Given the description of an element on the screen output the (x, y) to click on. 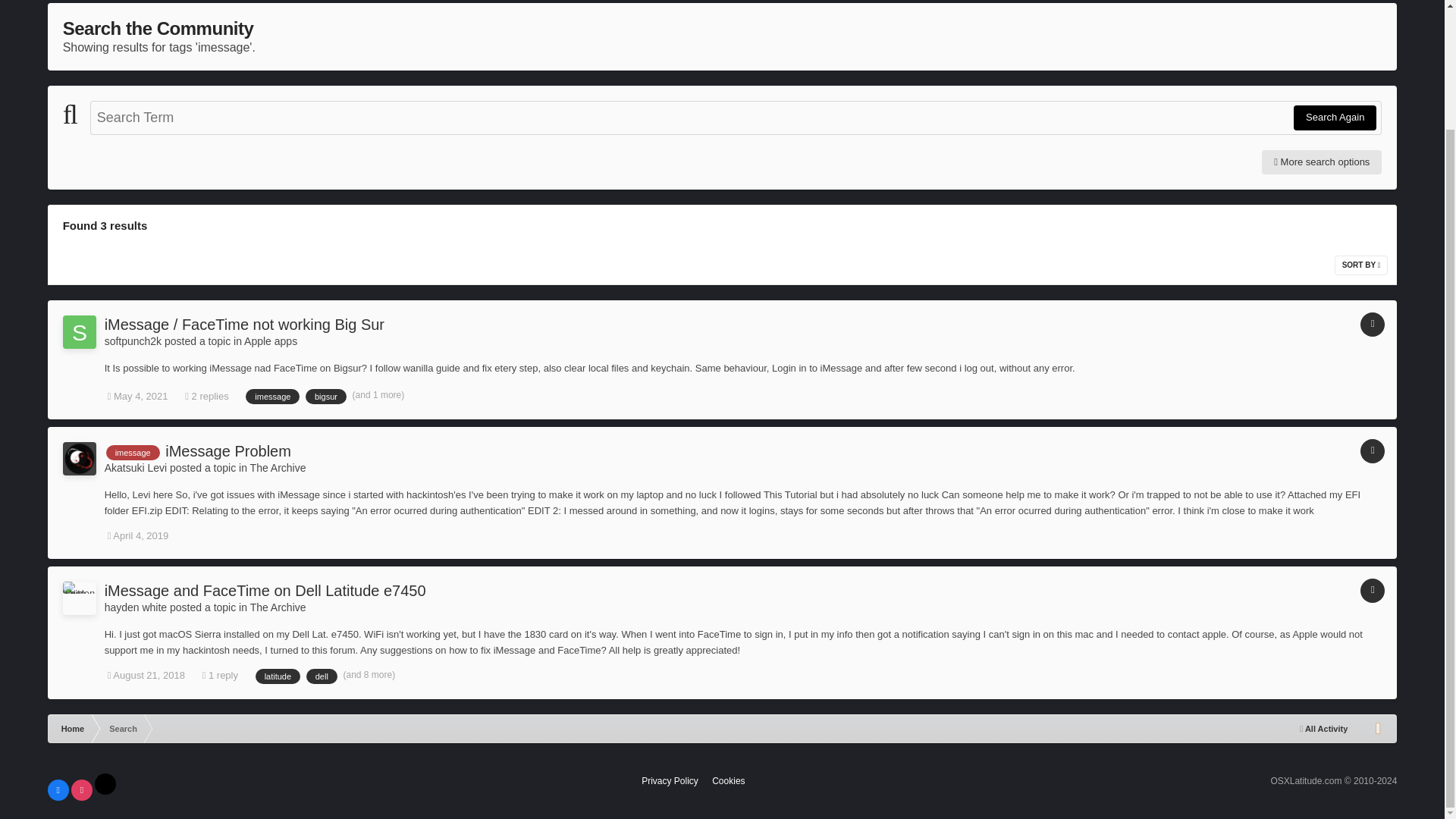
Topic (1371, 324)
Go to softpunch2k's profile (132, 340)
Find other content tagged with 'imessage' (272, 396)
Go to softpunch2k's profile (79, 331)
Go to Akatsuki Levi's profile (79, 458)
Go to Akatsuki Levi's profile (135, 467)
Find other content tagged with 'bigsur' (325, 396)
Topic (1371, 450)
Find other content tagged with 'imessage' (133, 452)
